Given the description of an element on the screen output the (x, y) to click on. 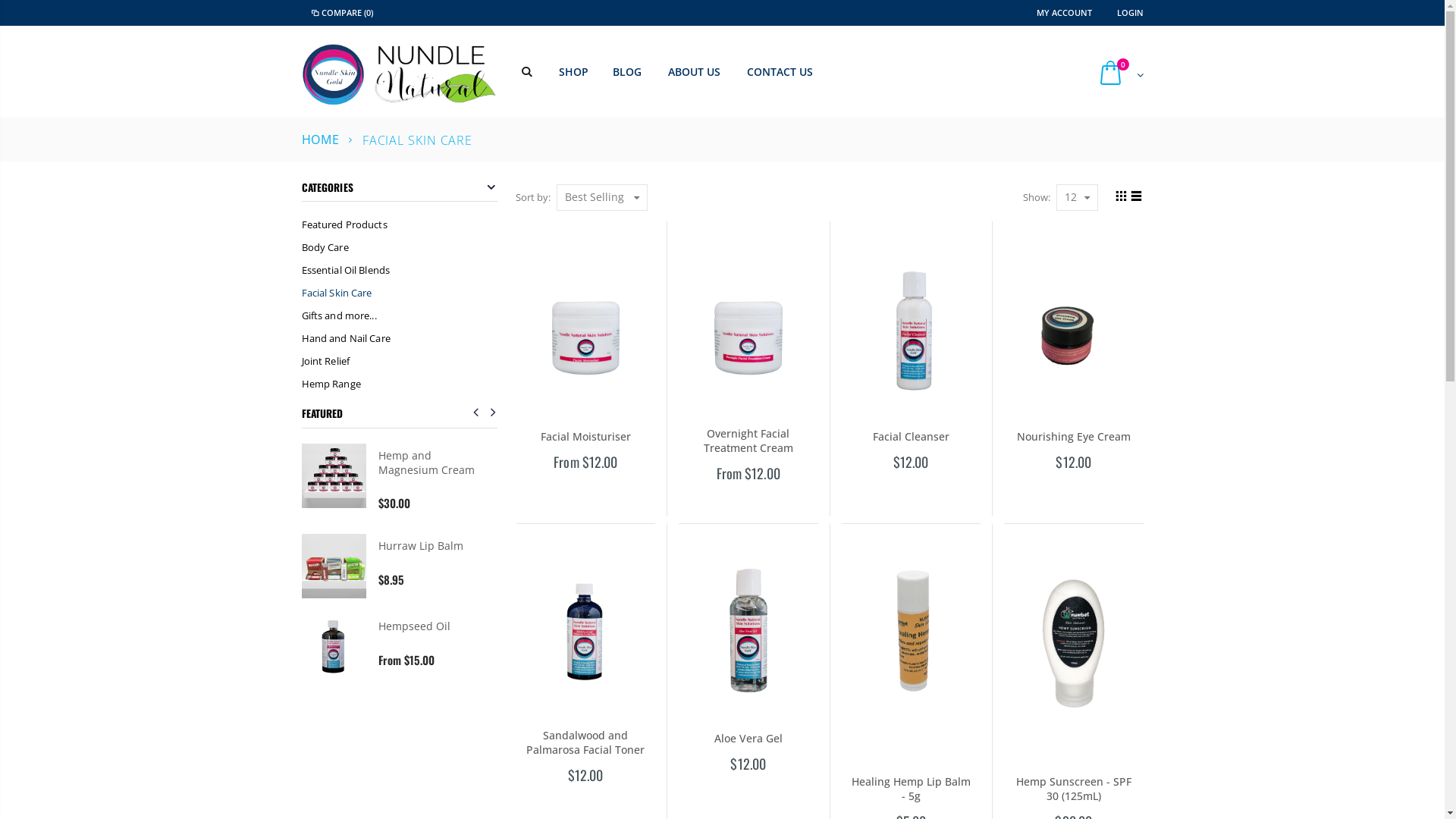
LOGIN Element type: text (1129, 12)
Joint Relief Element type: text (399, 360)
Sandalwood and Palmarosa Facial Toner Element type: text (585, 742)
Gifts and more... Element type: text (399, 315)
Hemp Range Element type: text (399, 383)
COMPARE (0) Element type: text (341, 12)
Doggie Drops Element type: text (412, 625)
CONTACT US Element type: text (783, 71)
HOME Element type: text (320, 139)
Aloe Vera Gel Element type: text (748, 738)
Nundle Man Cream Element type: text (428, 545)
Body Care Element type: text (399, 246)
BLOG Element type: text (630, 71)
Facial Moisturiser Element type: text (585, 436)
Facial Cleanser Element type: text (910, 436)
Healing Hemp Lip Balm - 5g Element type: text (910, 788)
Nourishing Eye Cream Element type: text (1073, 436)
Facial Skin Care Element type: text (399, 292)
Hand and Nail Care Element type: text (399, 337)
ABOUT US Element type: text (698, 71)
Hemp Sunscreen - SPF 30 (125mL) Element type: text (1073, 788)
SHOP Element type: text (577, 71)
MY ACCOUNT Element type: text (1064, 12)
0 Element type: text (1117, 73)
Overnight Facial Treatment Cream Element type: text (748, 440)
Essential Oil Blends Element type: text (399, 269)
Featured Products Element type: text (399, 224)
Numbat Wild Hemp Toiletries Bag Element type: text (428, 462)
